Given the description of an element on the screen output the (x, y) to click on. 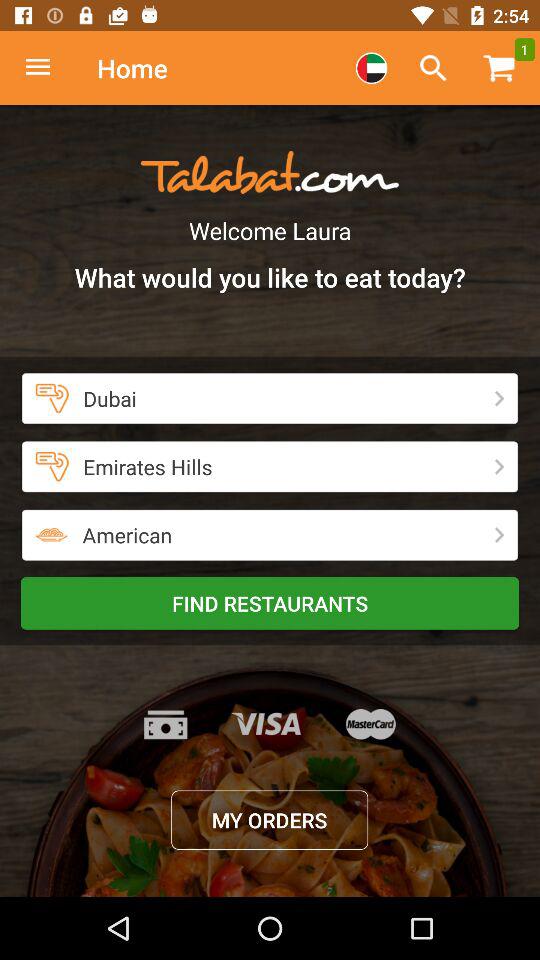
country (371, 68)
